Given the description of an element on the screen output the (x, y) to click on. 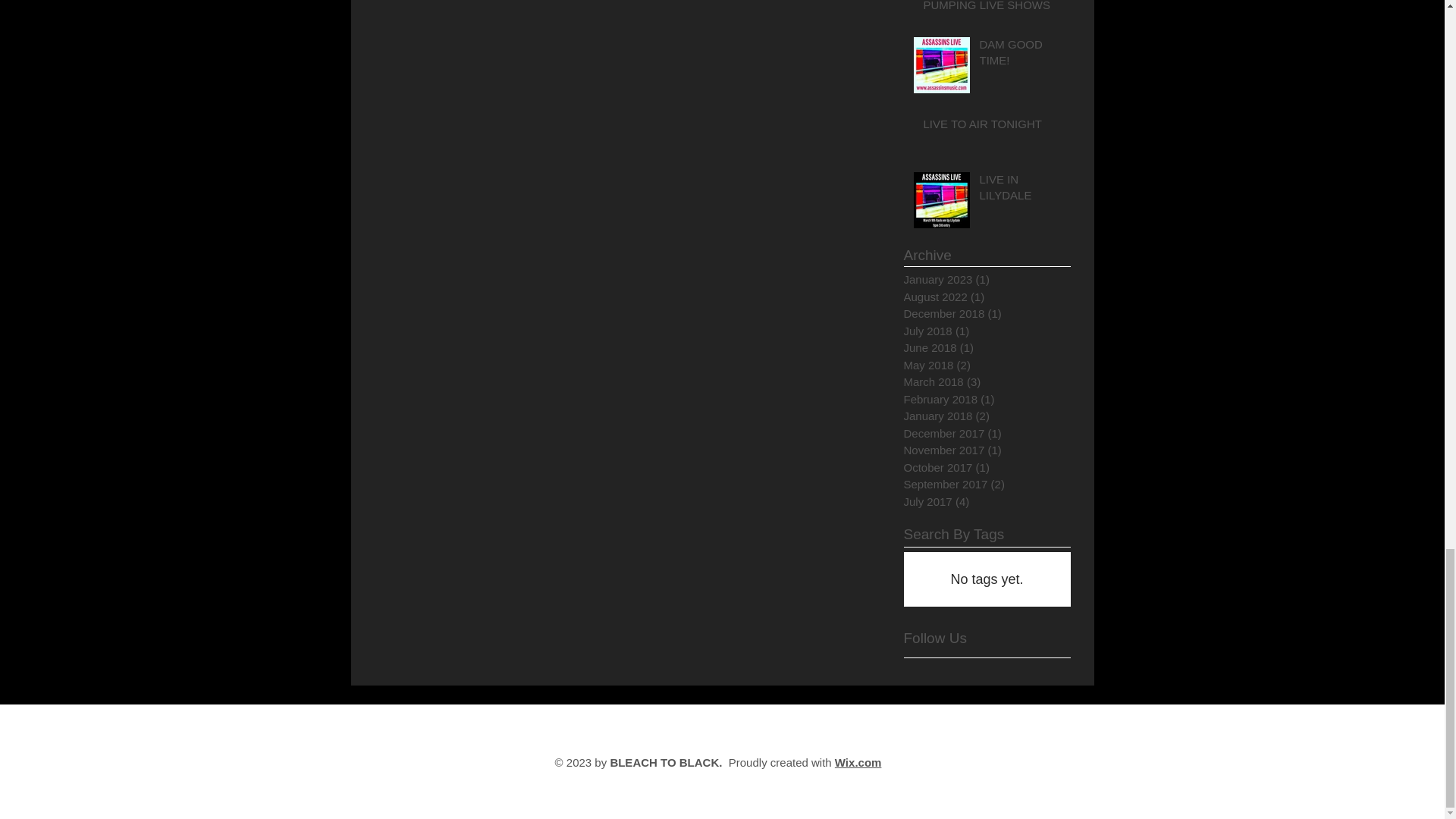
DAM GOOD TIME! (1020, 55)
LIVE IN LILYDALE (1020, 190)
LIVE TO AIR TONIGHT (992, 127)
2 RIPPING AND PUMPING LIVE SHOWS (992, 9)
